Given the description of an element on the screen output the (x, y) to click on. 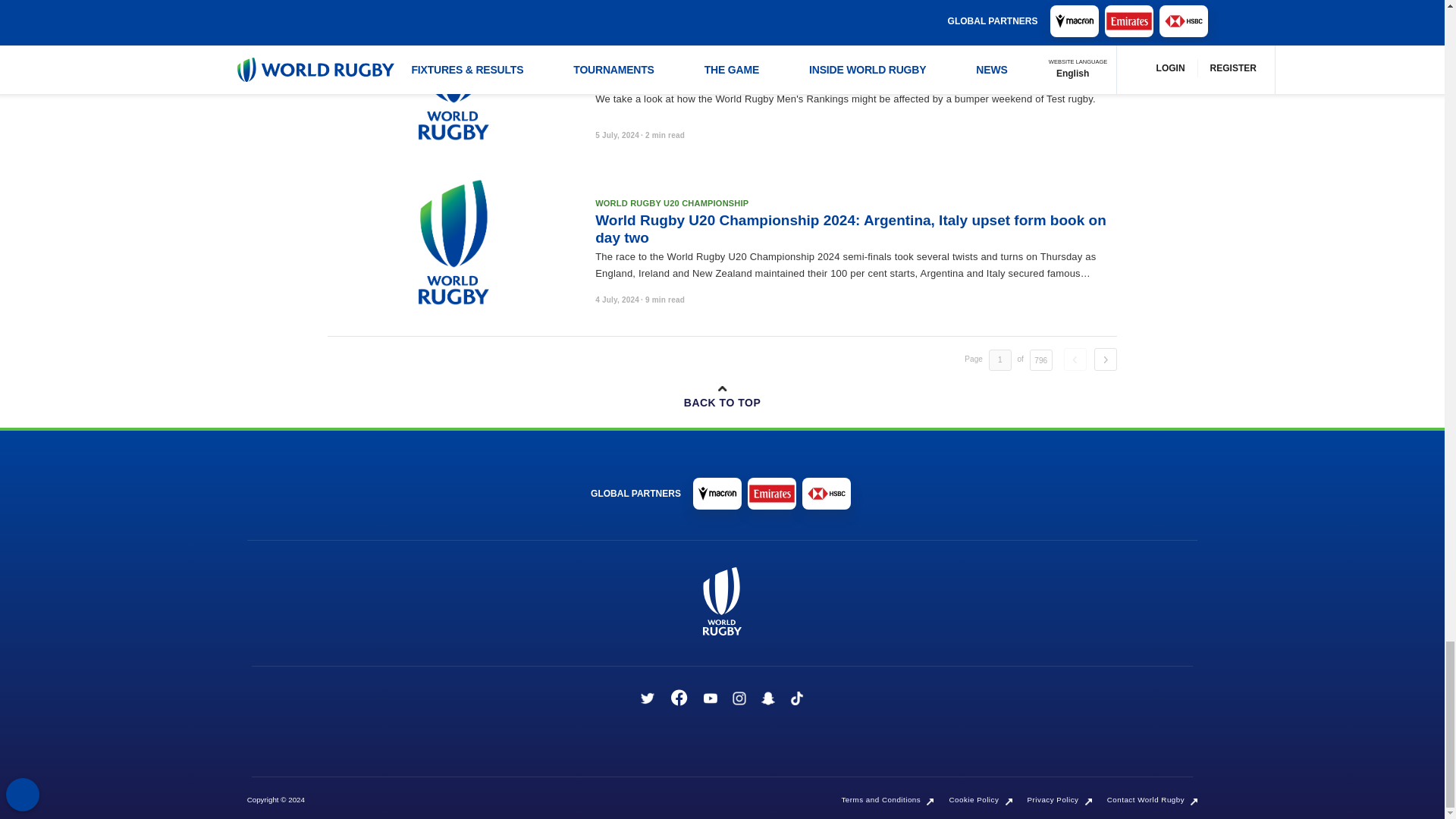
1 (999, 360)
